Given the description of an element on the screen output the (x, y) to click on. 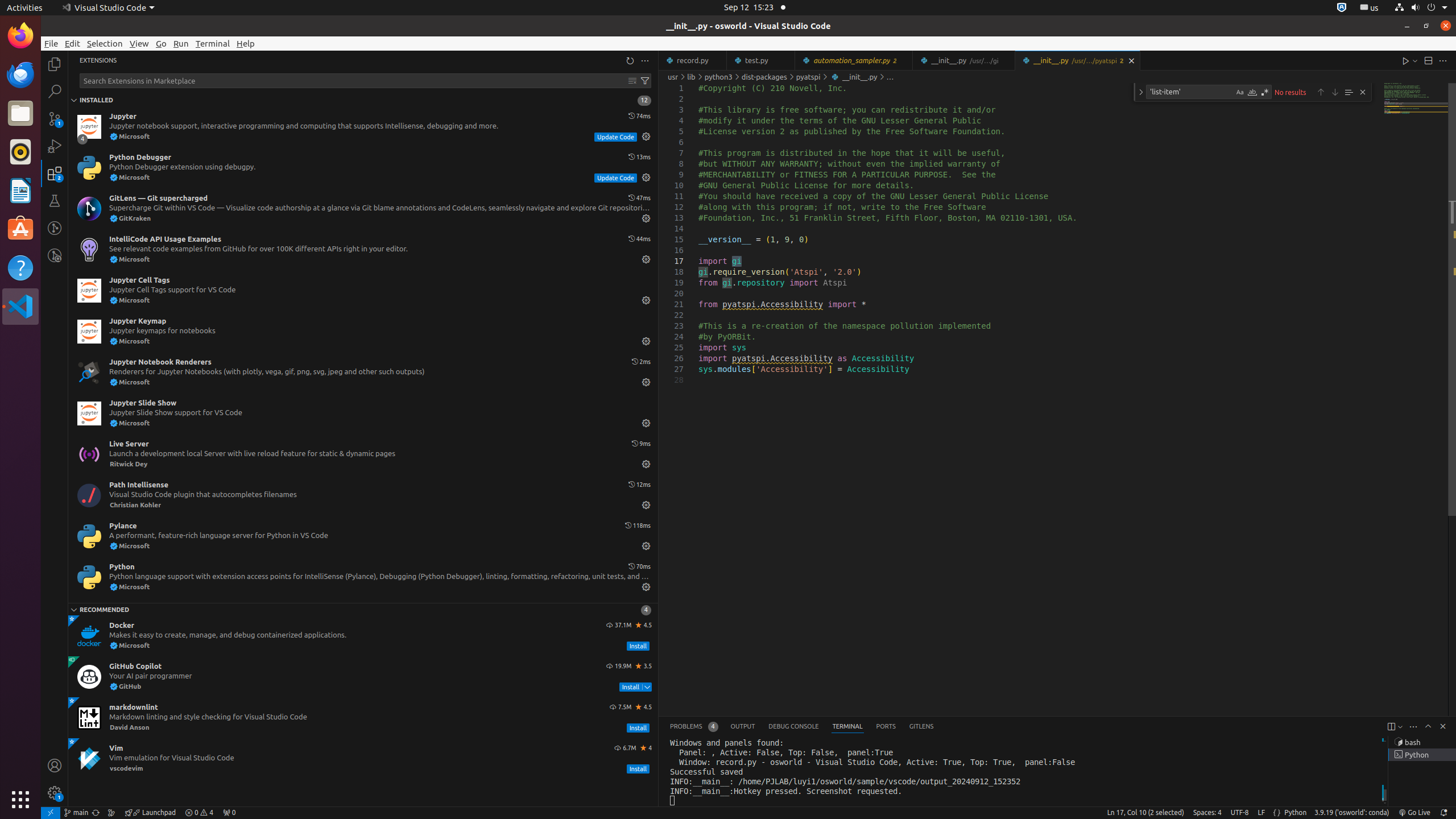
Debug Console (Ctrl+Shift+Y) Element type: page-tab (793, 726)
Close (Escape) Element type: push-button (1362, 91)
Spaces: 4 Element type: push-button (1206, 812)
OSWorld (Git) - main, Checkout Branch/Tag... Element type: push-button (75, 812)
Filter Extensions... Element type: push-button (644, 80)
